Given the description of an element on the screen output the (x, y) to click on. 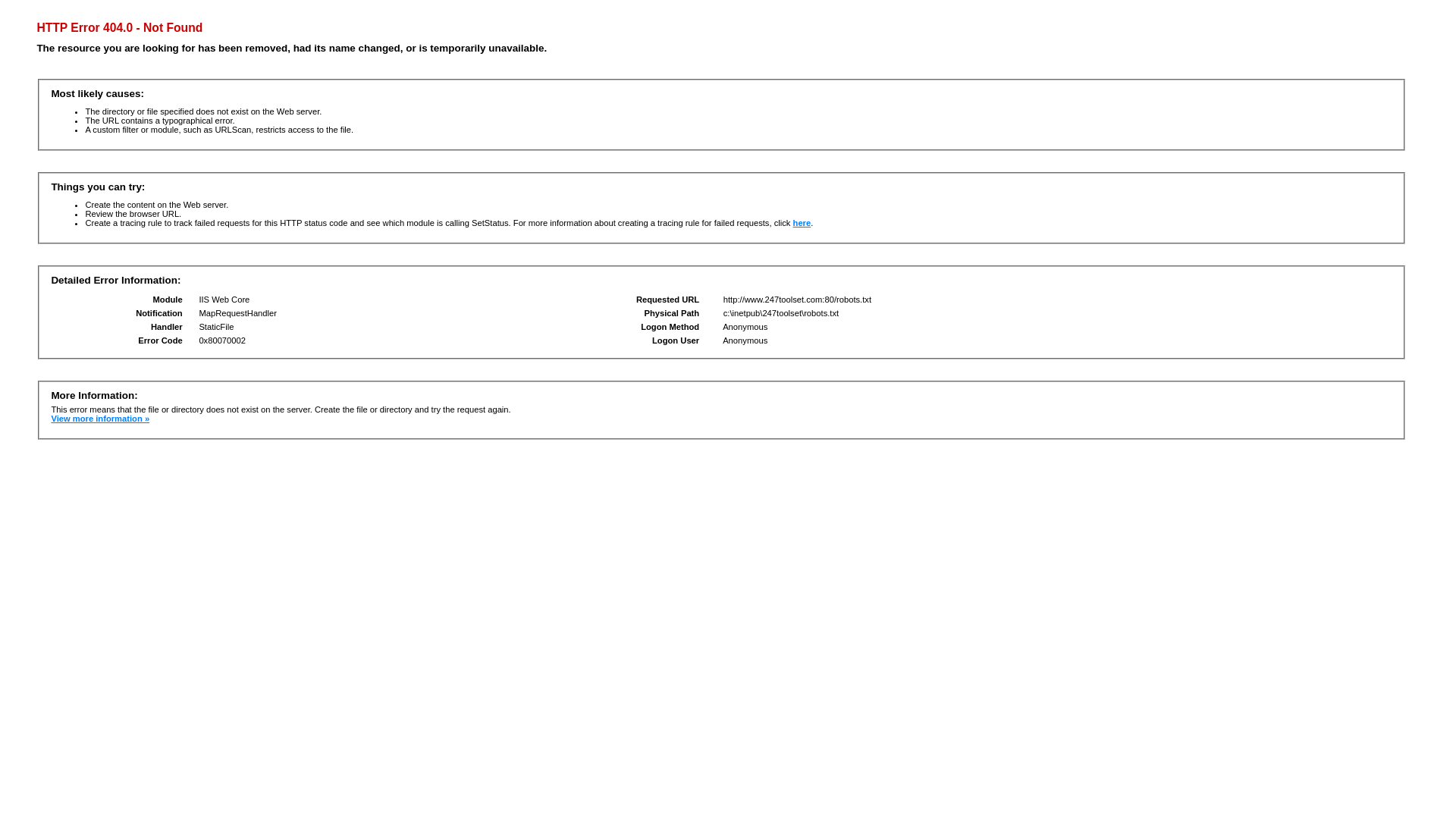
here Element type: text (802, 222)
